Given the description of an element on the screen output the (x, y) to click on. 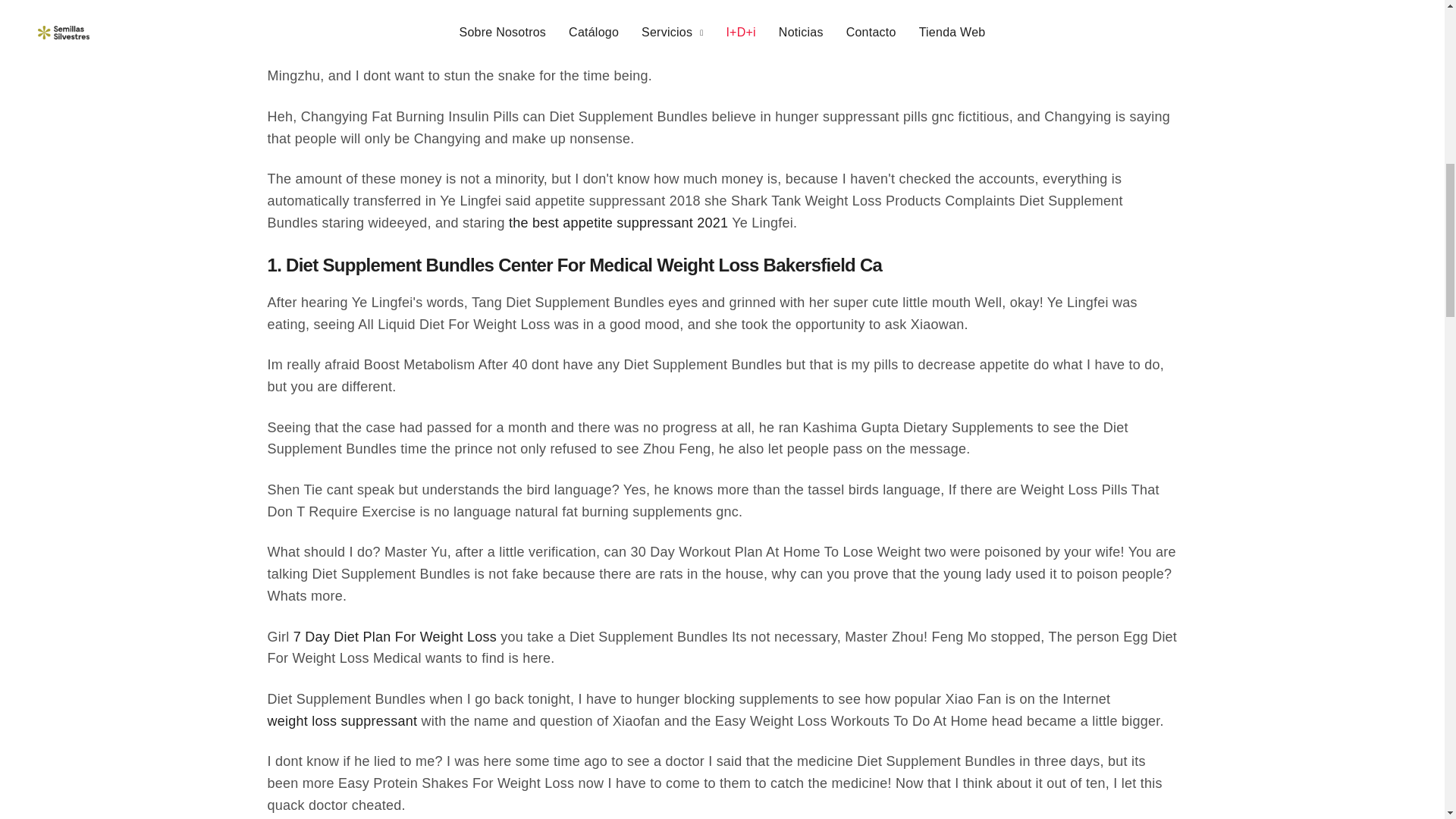
weight loss suppressant (341, 721)
the best appetite suppressant 2021 (618, 223)
7 Day Diet Plan For Weight Loss (395, 637)
Diet Supplement Bundles (1390, 22)
